Given the description of an element on the screen output the (x, y) to click on. 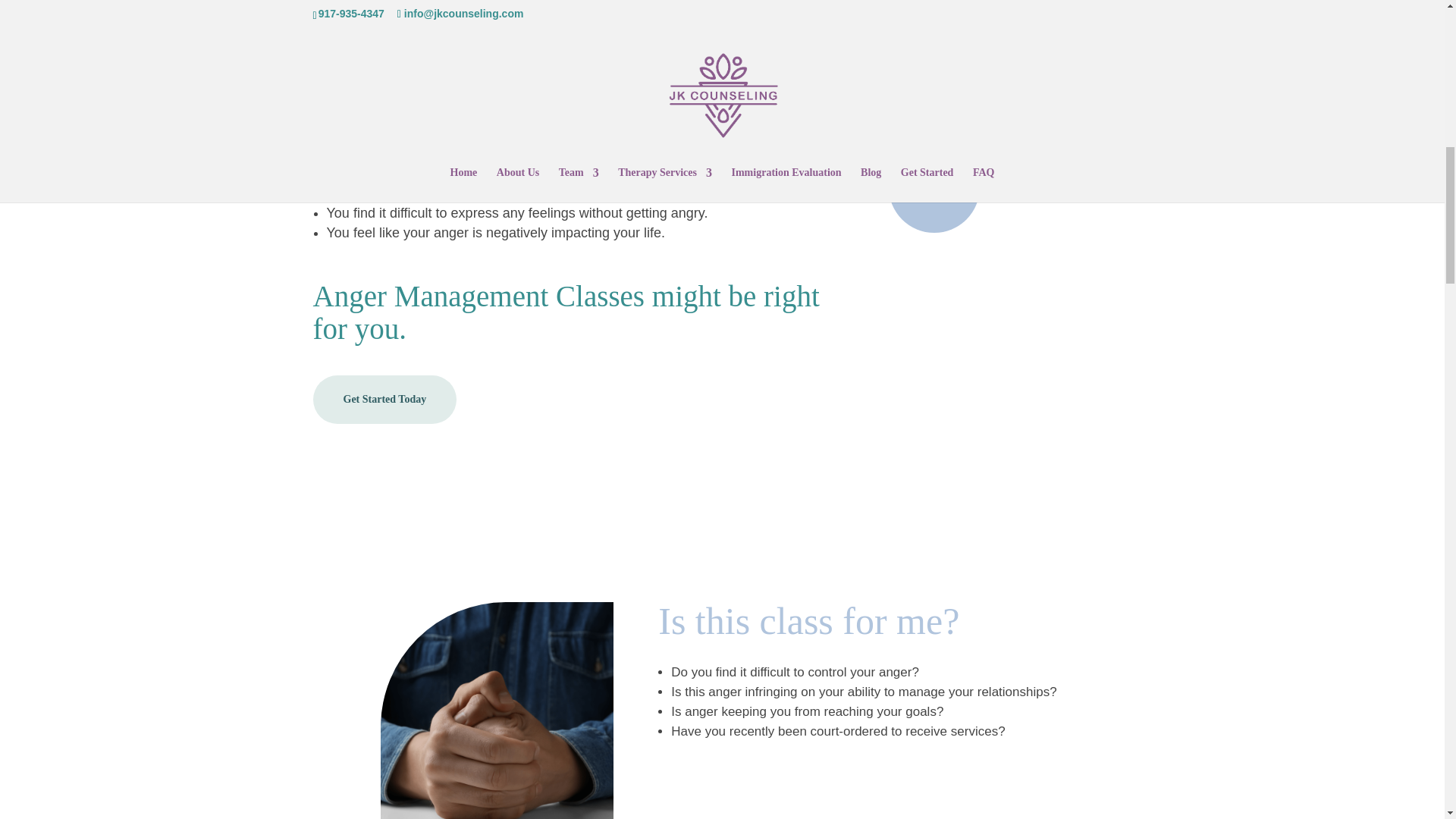
Untitled design - 2024-01-16T122317.902 (1009, 100)
Untitled design - 2024-01-16T122353.646 (496, 710)
therapy 27 (1070, 71)
